Given the description of an element on the screen output the (x, y) to click on. 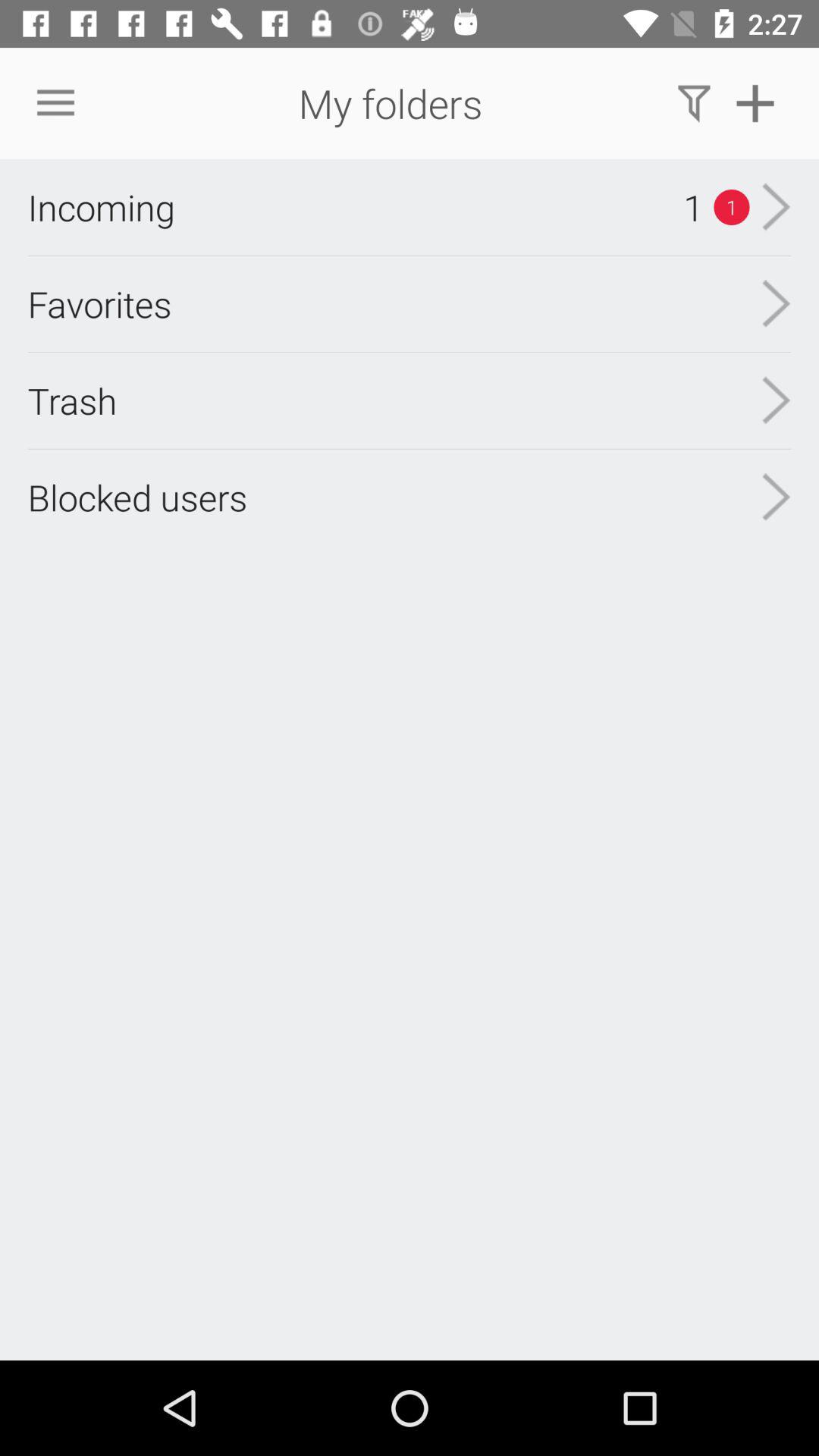
tap favorites icon (99, 303)
